Given the description of an element on the screen output the (x, y) to click on. 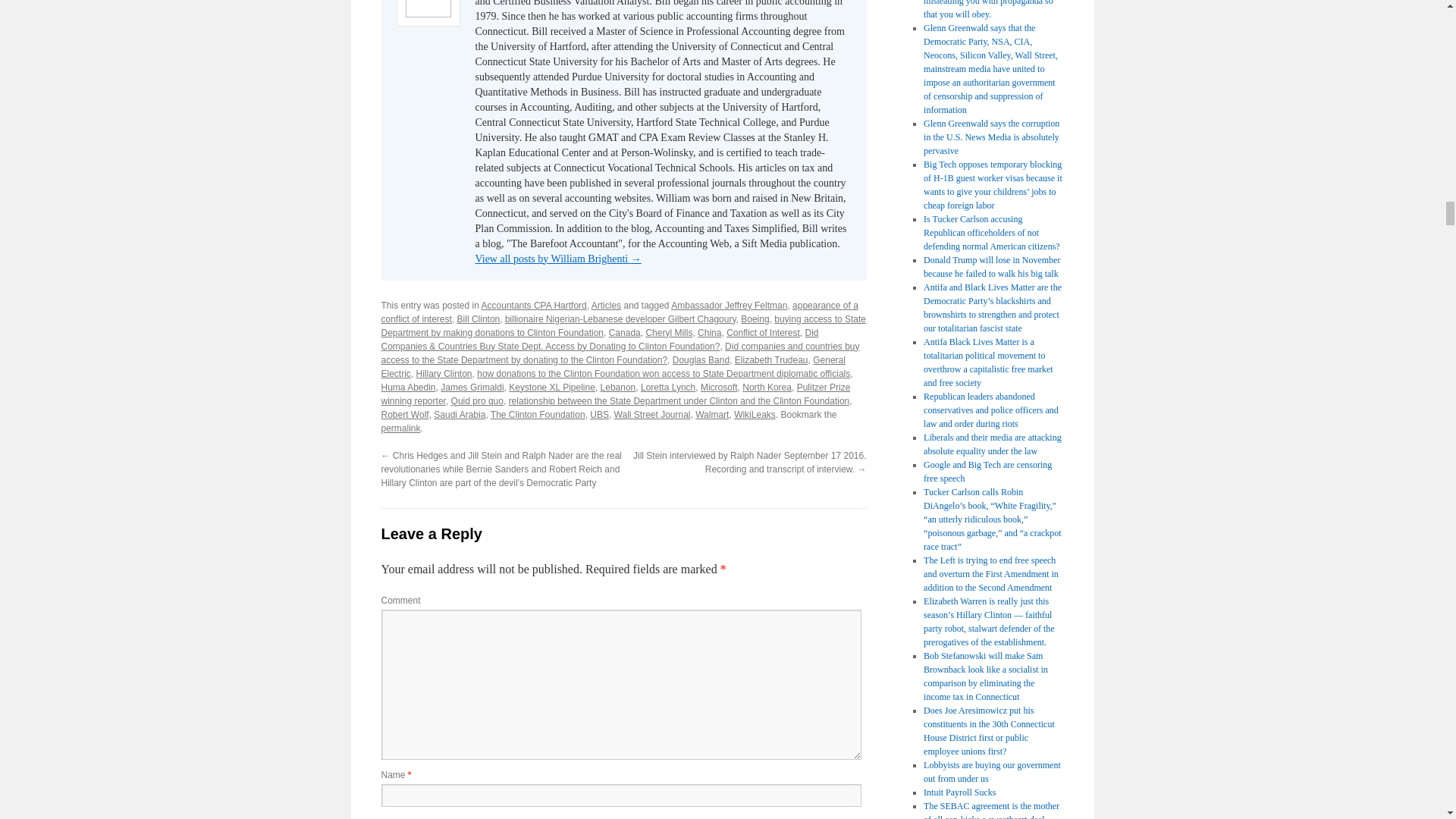
Douglas Band (700, 359)
James Grimaldi (472, 387)
Ambassador Jeffrey Feltman (729, 305)
Conflict of Interest (762, 332)
Canada (624, 332)
Articles (606, 305)
Loretta Lynch (667, 387)
appearance of a conflict of interest (618, 312)
Elizabeth Trudeau (771, 359)
Boeing (754, 318)
General Electric (612, 366)
China (708, 332)
